Given the description of an element on the screen output the (x, y) to click on. 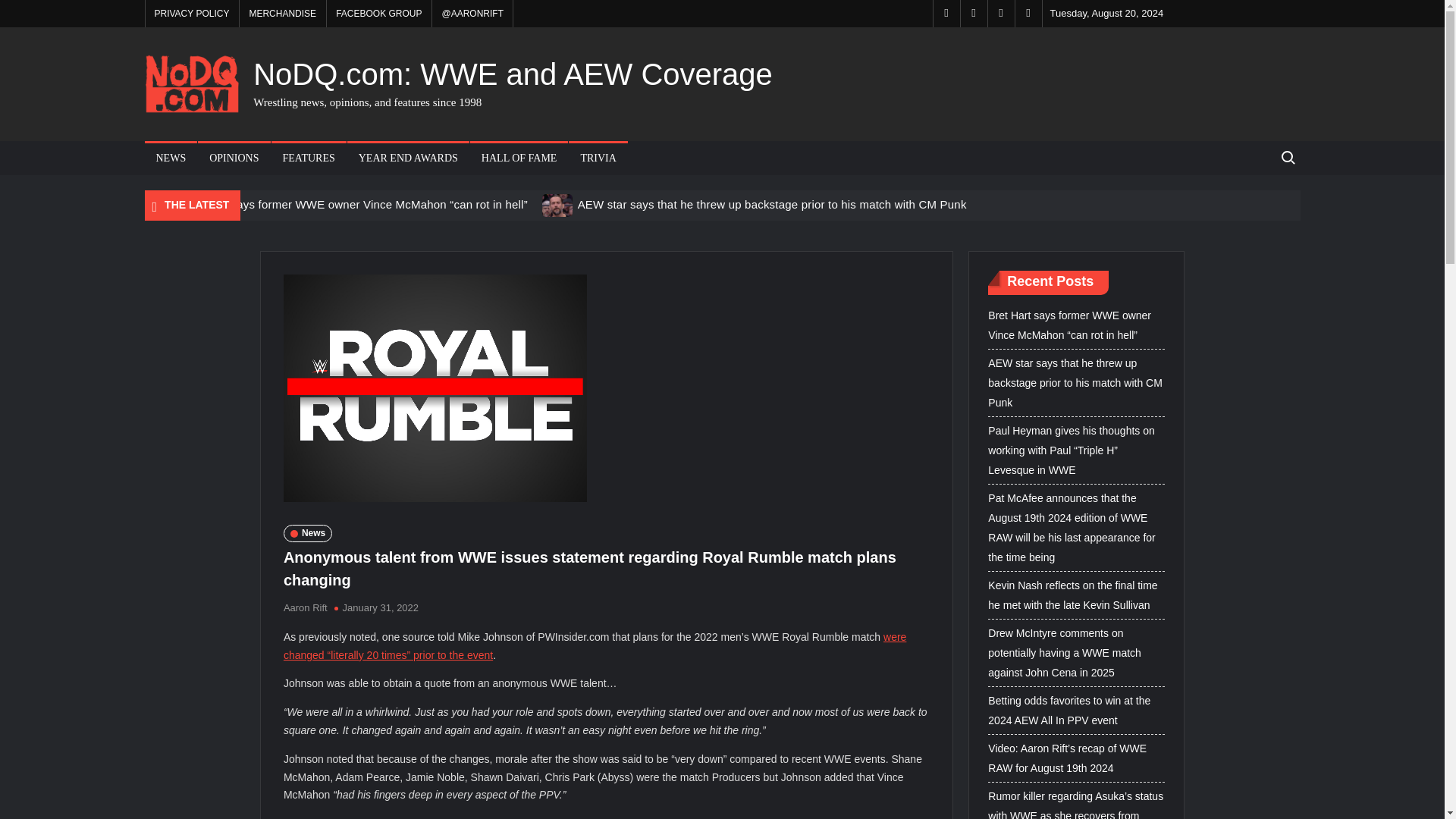
FACEBOOK GROUP (378, 13)
FEATURES (308, 157)
Search for: (1287, 157)
NoDQ.com: WWE and AEW Coverage (513, 73)
HALL OF FAME (519, 157)
PRIVACY POLICY (191, 13)
NEWS (170, 157)
